Given the description of an element on the screen output the (x, y) to click on. 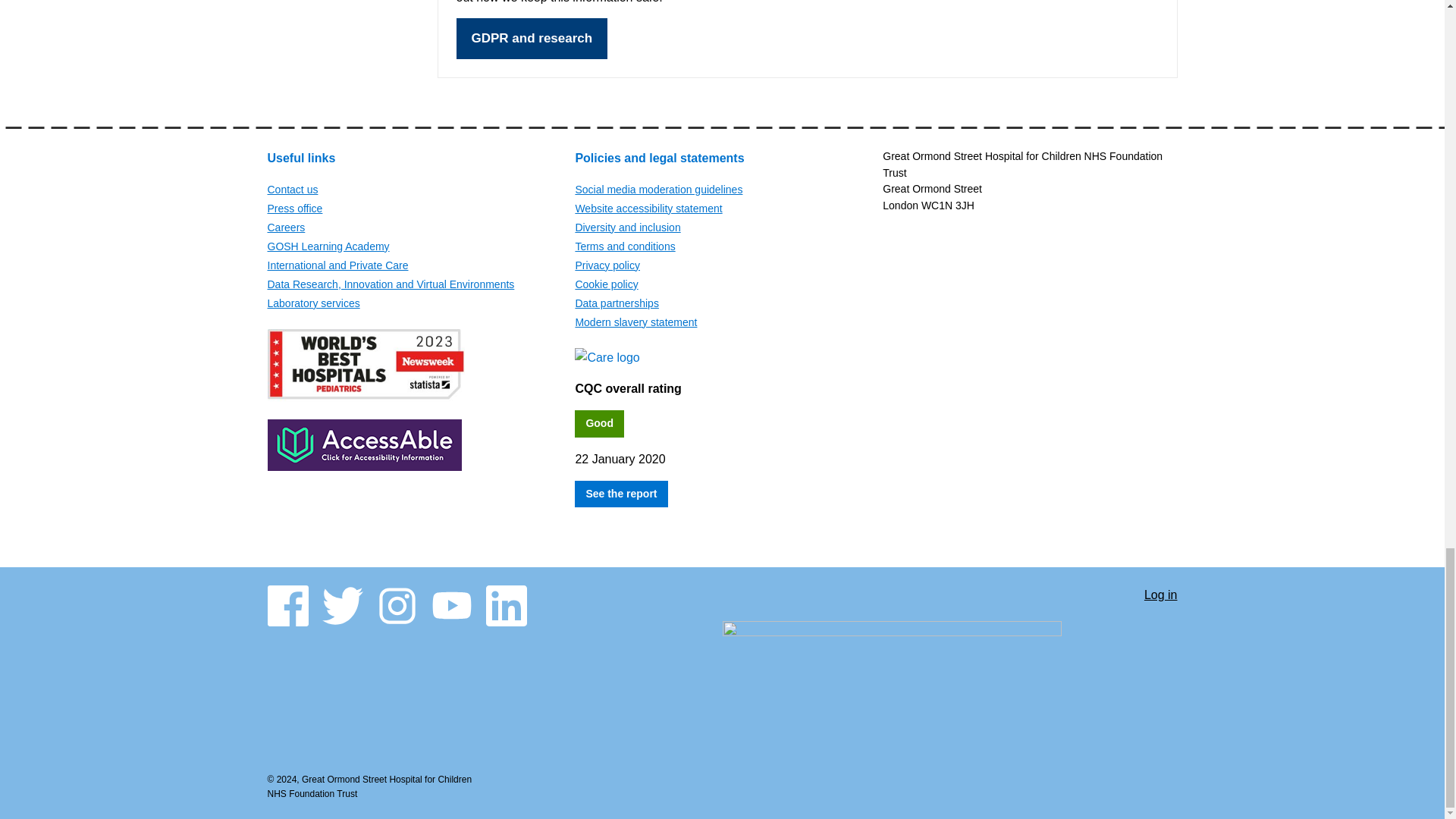
Follow us on Facebook (286, 605)
Follow us on Youtube (450, 605)
Follow us on Twitter (341, 605)
Follow us on Instagram (395, 605)
Follow us on Linkedin (504, 605)
